Given the description of an element on the screen output the (x, y) to click on. 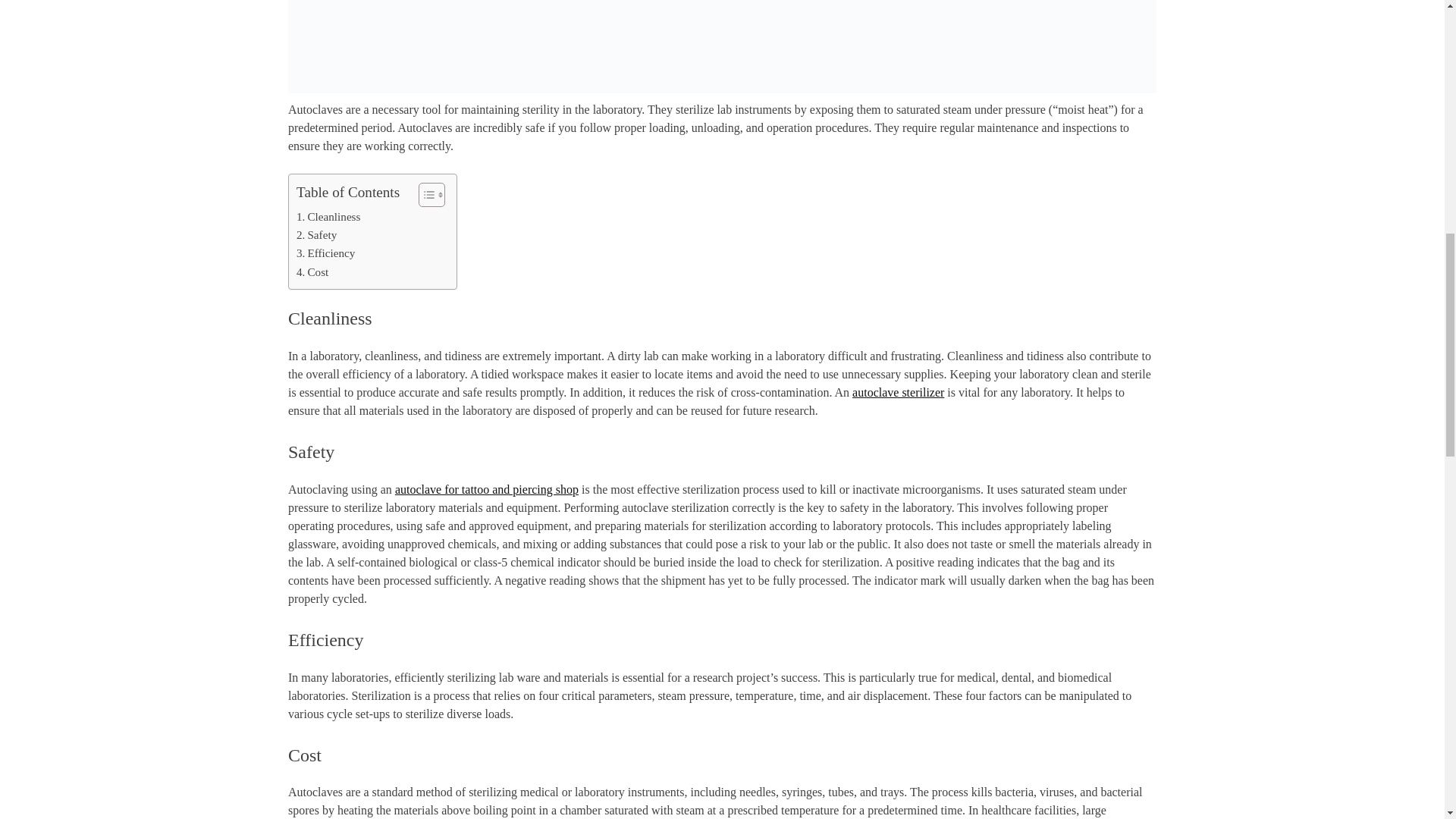
Cleanliness (328, 217)
Cost (313, 271)
Safety (316, 235)
Efficiency (326, 253)
